Given the description of an element on the screen output the (x, y) to click on. 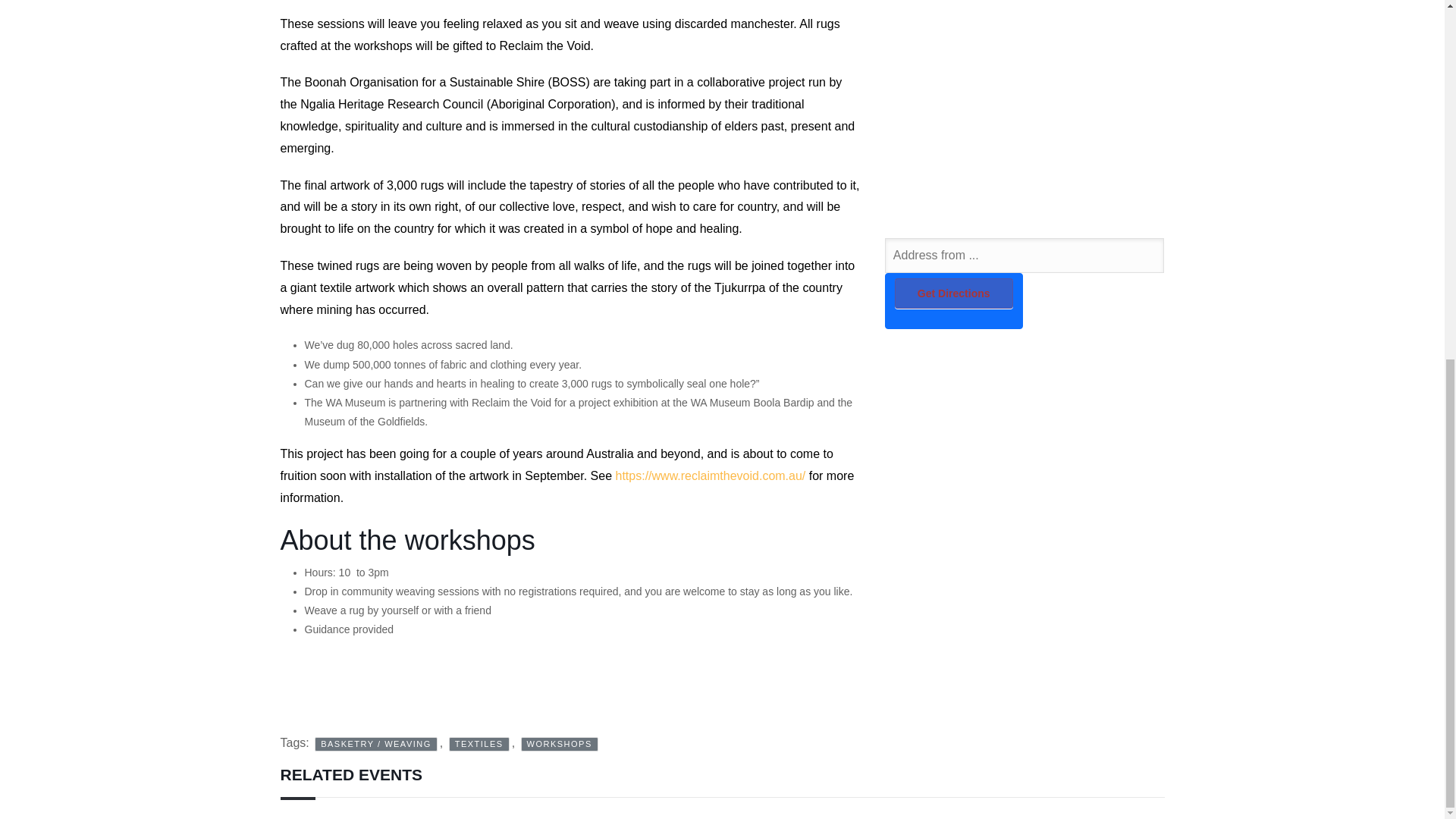
Get Directions (954, 293)
TEXTILES (478, 744)
Get Directions (954, 293)
WORKSHOPS (559, 744)
